Given the description of an element on the screen output the (x, y) to click on. 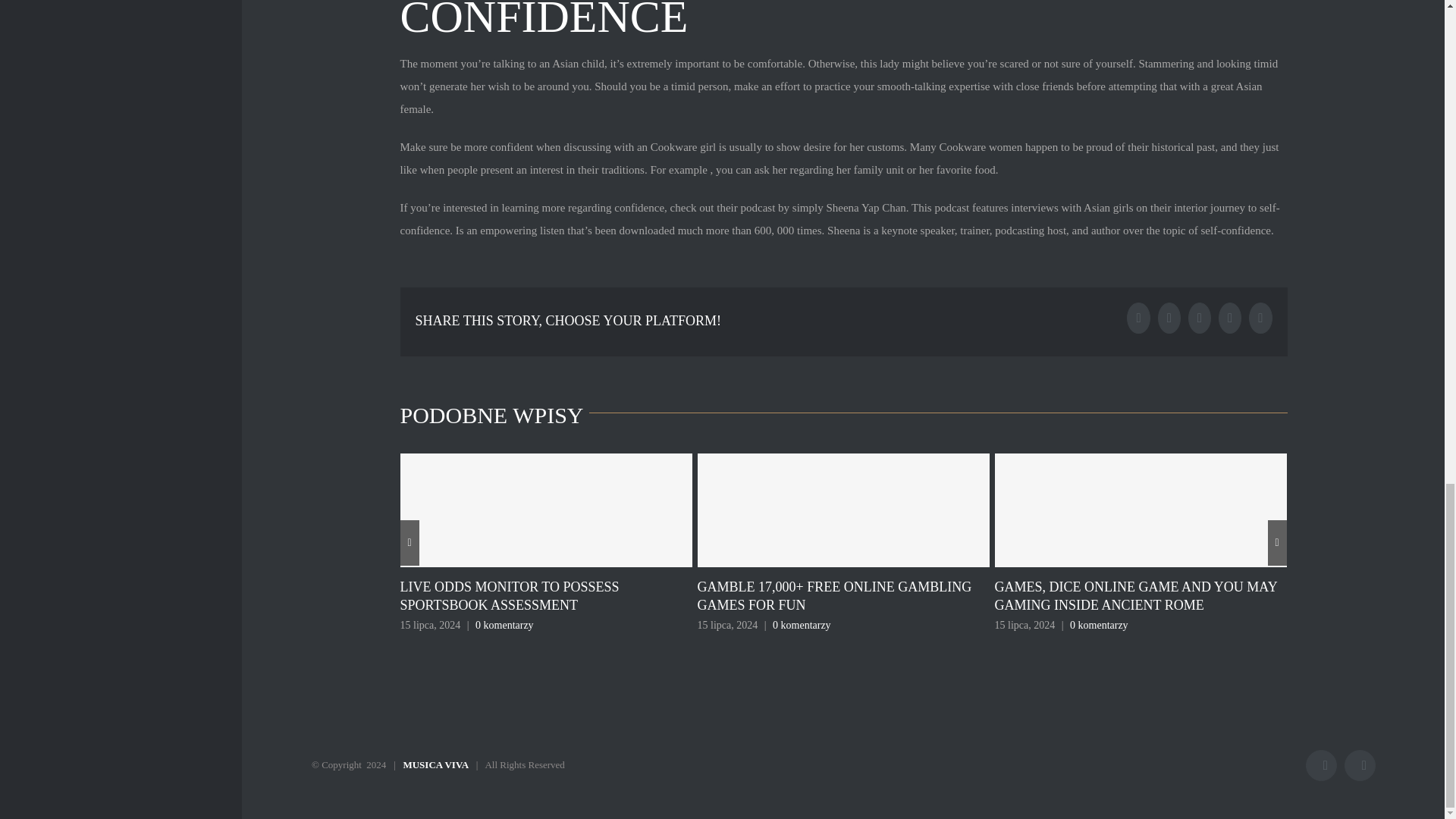
Facebook (1321, 765)
0 komentarzy (505, 624)
LIVE ODDS MONITOR TO POSSESS SPORTSBOOK ASSESSMENT (510, 595)
0 komentarzy (1099, 624)
Vimeo (1359, 765)
0 komentarzy (802, 624)
